Given the description of an element on the screen output the (x, y) to click on. 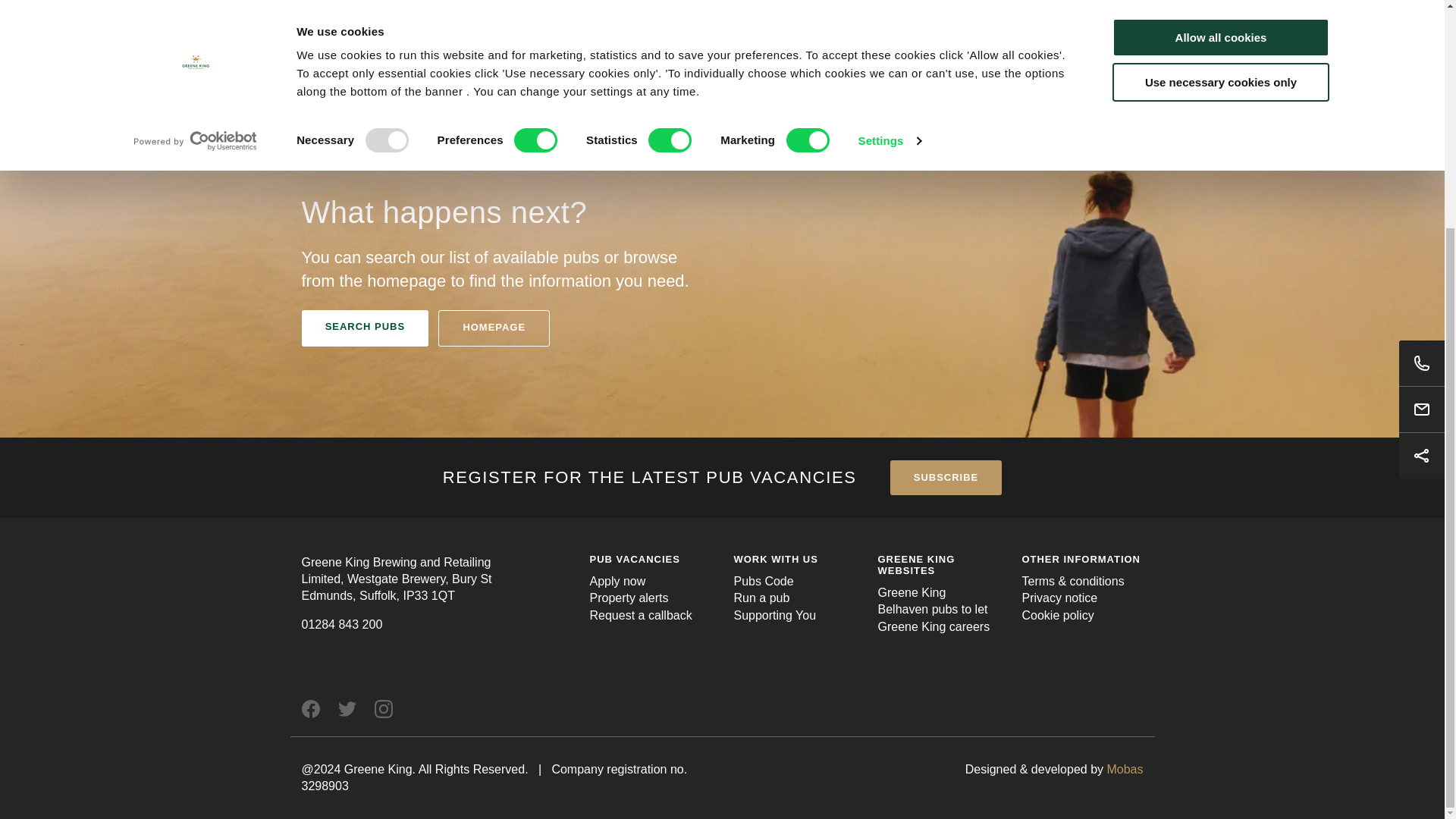
Facebook icon (310, 709)
Instagram icon (383, 709)
Twitter icon (346, 709)
